Given the description of an element on the screen output the (x, y) to click on. 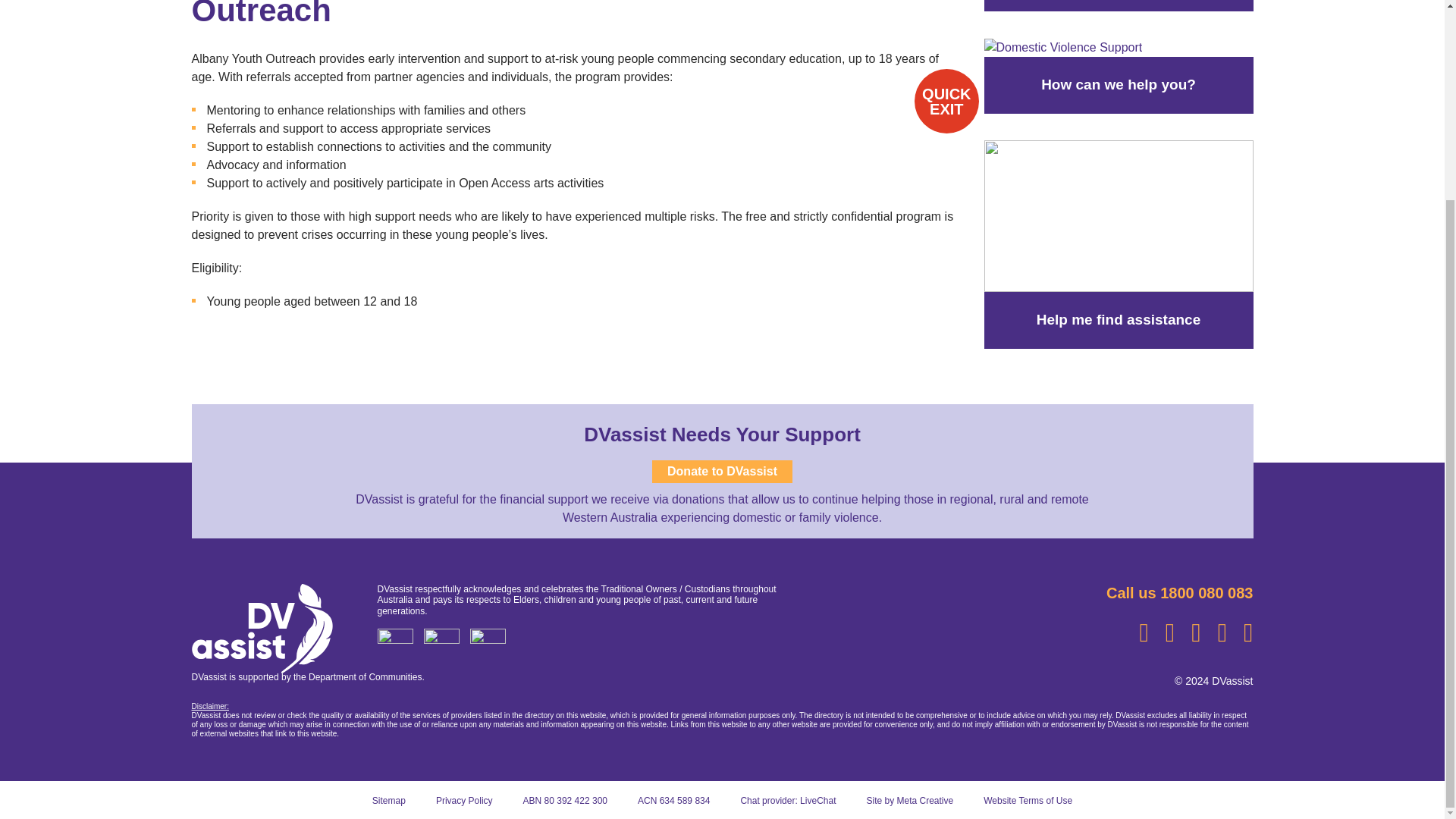
How can we help you? (1063, 47)
ABN 80 392 422 300 (564, 800)
Privacy Policy (464, 800)
Donate to DVassist (722, 471)
Sitemap (389, 800)
Site by Meta Creative (909, 800)
Help me find assistance (1118, 215)
Chat provider: LiveChat (787, 800)
ACN 634 589 834 (673, 800)
Website Terms of Use (1027, 800)
